Given the description of an element on the screen output the (x, y) to click on. 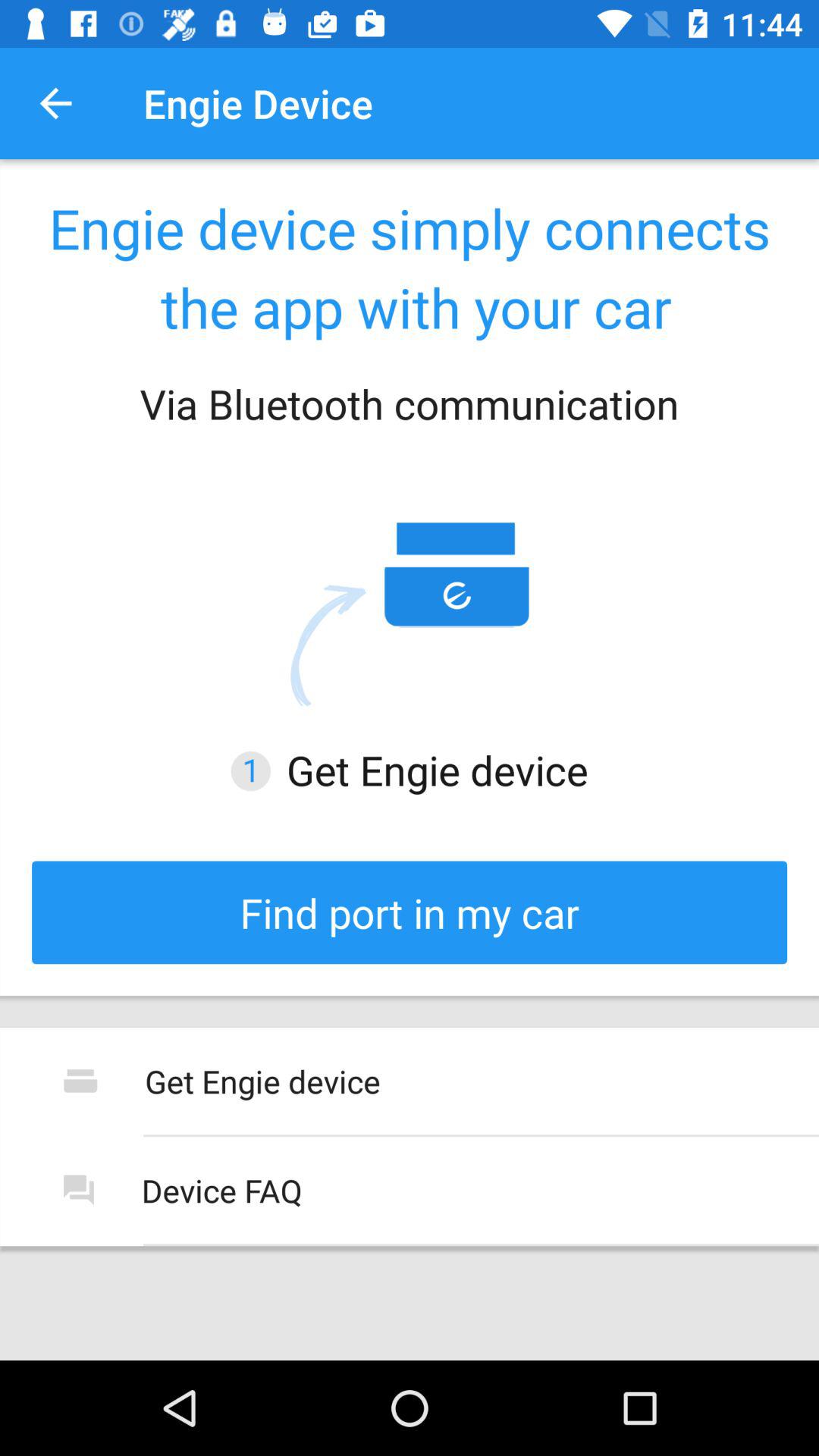
choose the icon below the get engie device icon (409, 912)
